Given the description of an element on the screen output the (x, y) to click on. 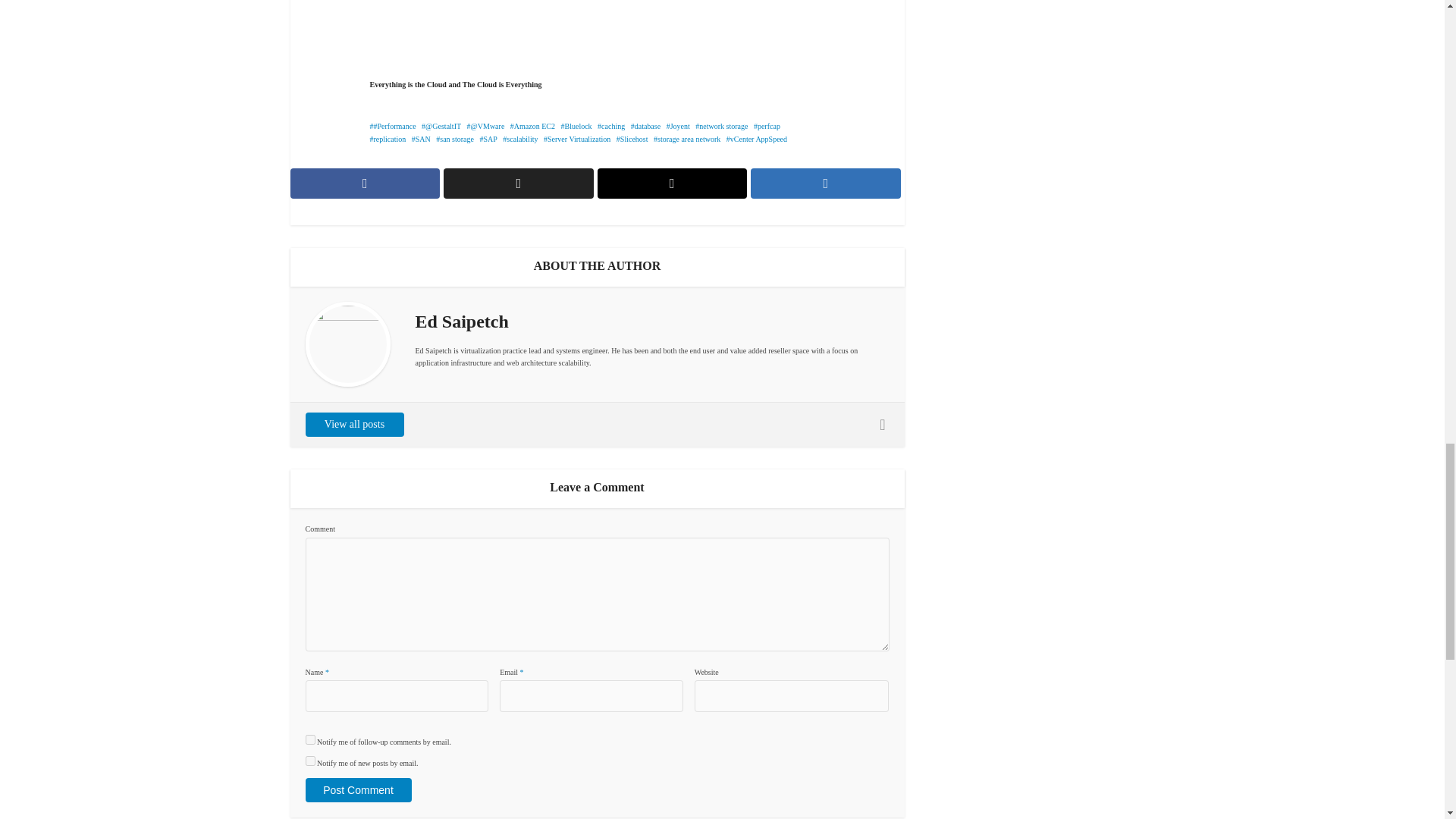
Post Comment (357, 790)
subscribe (309, 739)
subscribe (309, 760)
